Given the description of an element on the screen output the (x, y) to click on. 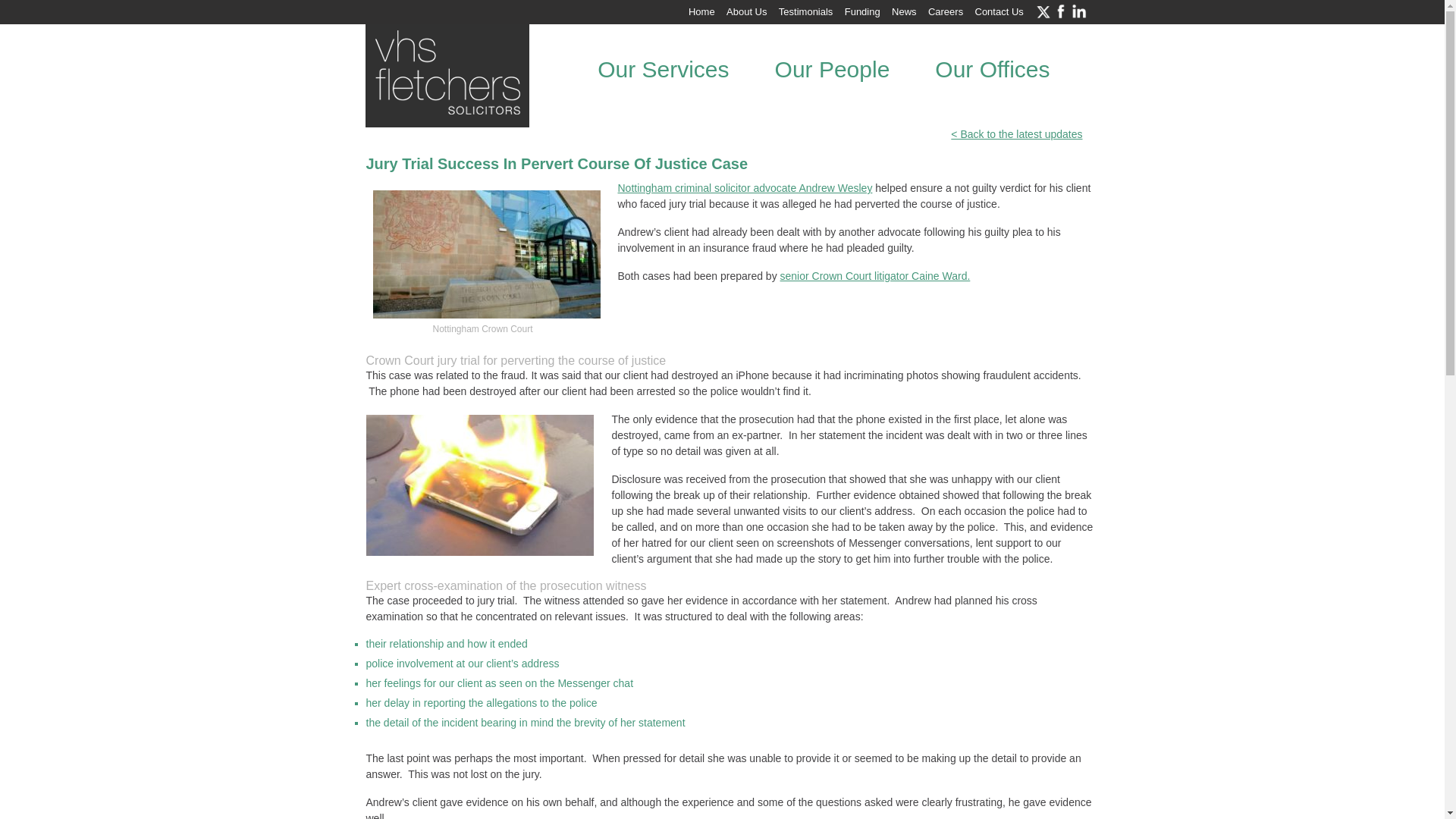
Home (701, 11)
Funding (862, 11)
Contact Us (999, 11)
Our Offices (991, 68)
Nottingham criminal solicitor advocate Andrew Wesley (744, 187)
Our People (831, 68)
Careers (945, 11)
Our Services (662, 68)
News (904, 11)
About Us (746, 11)
